Given the description of an element on the screen output the (x, y) to click on. 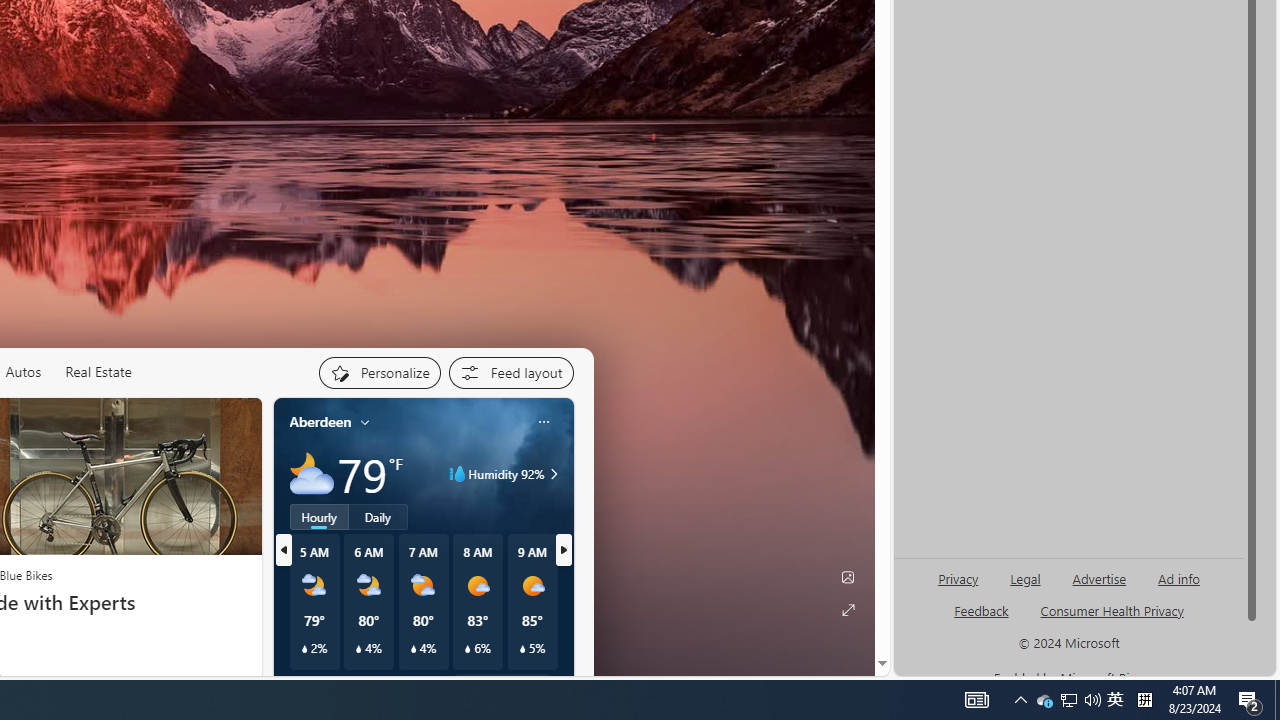
See full forecast (502, 685)
Humidity 92% (551, 474)
Mostly cloudy (311, 474)
Feed settings (510, 372)
Daily (378, 516)
